Given the description of an element on the screen output the (x, y) to click on. 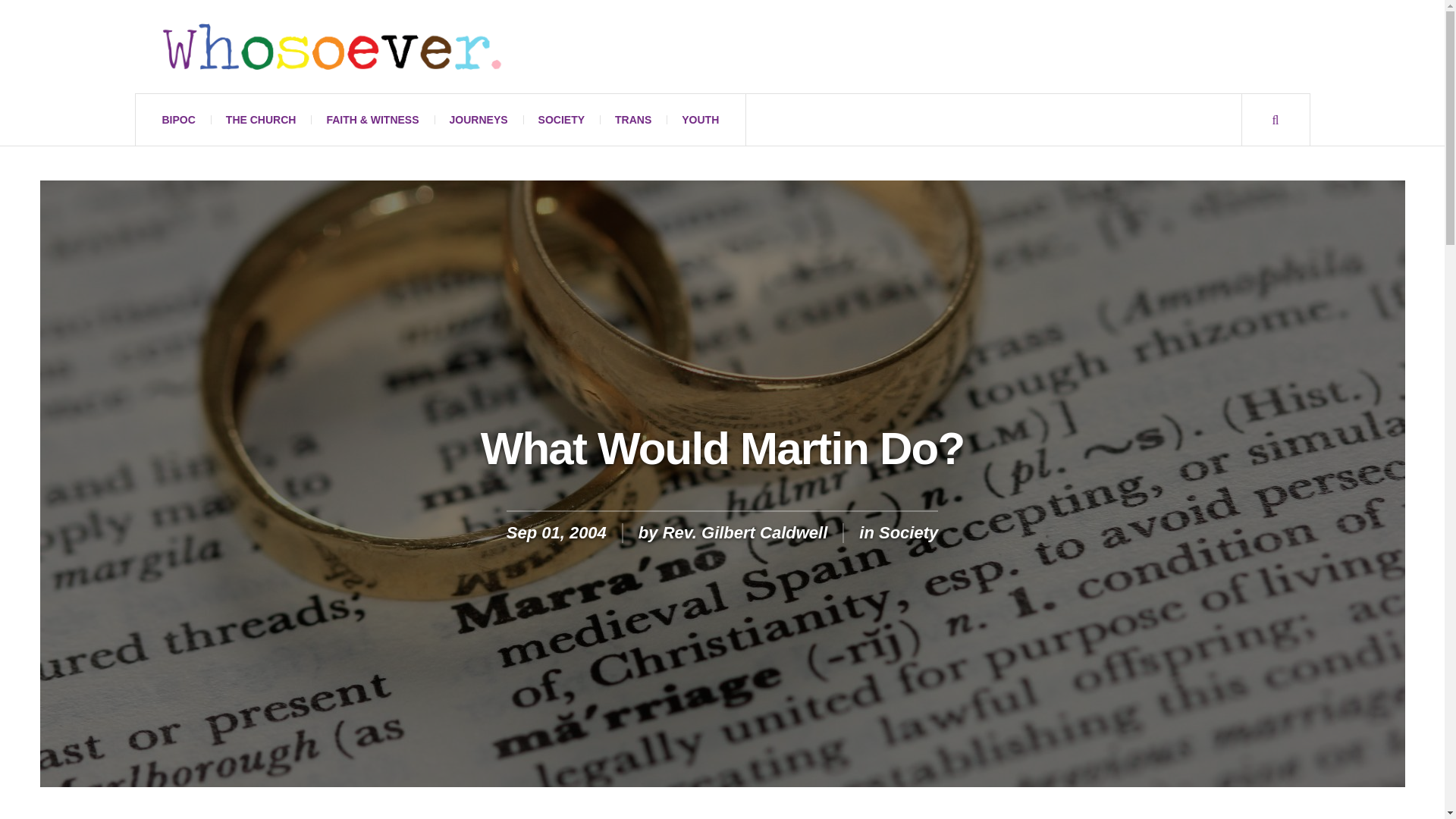
BIPOC (179, 119)
Whosoever (331, 46)
THE CHURCH (261, 119)
SOCIETY (560, 119)
View all posts in Society (908, 532)
Society (908, 532)
YOUTH (699, 119)
TRANS (632, 119)
Rev. Gilbert Caldwell (745, 532)
JOURNEYS (477, 119)
